Given the description of an element on the screen output the (x, y) to click on. 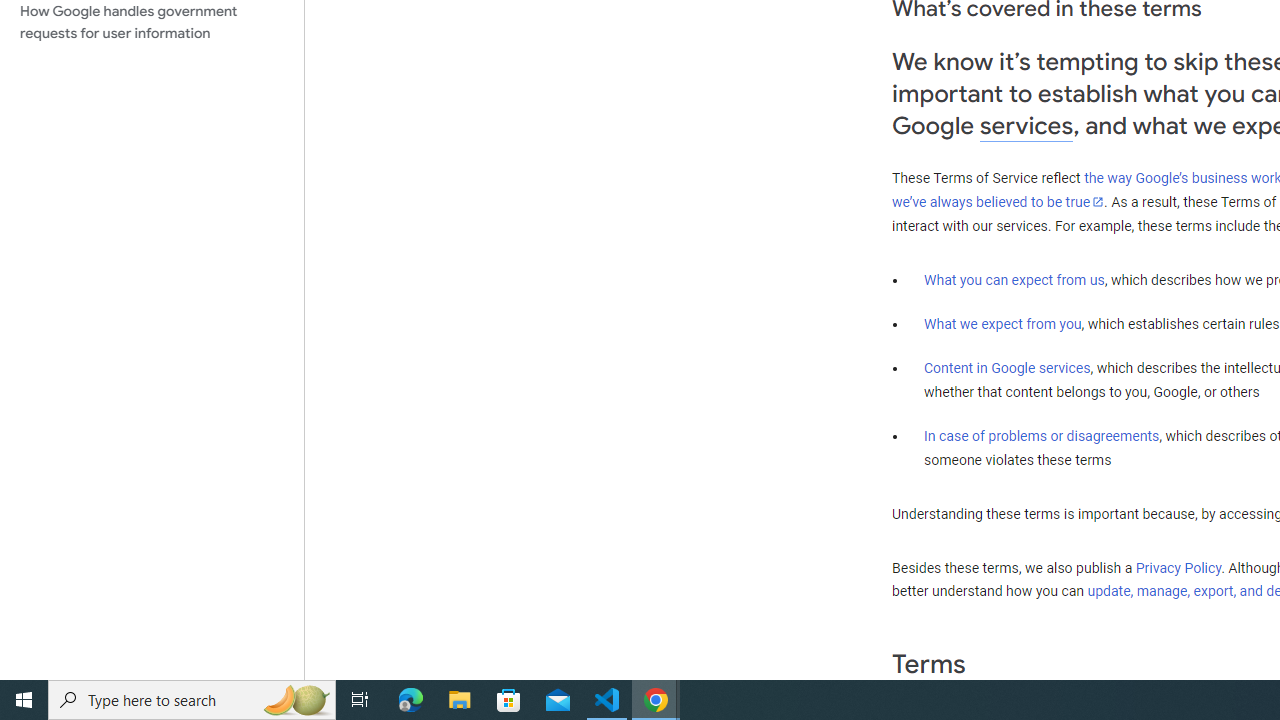
What you can expect from us (1014, 279)
Content in Google services (1007, 368)
services (1026, 125)
In case of problems or disagreements (1041, 435)
What we expect from you (1002, 323)
